Given the description of an element on the screen output the (x, y) to click on. 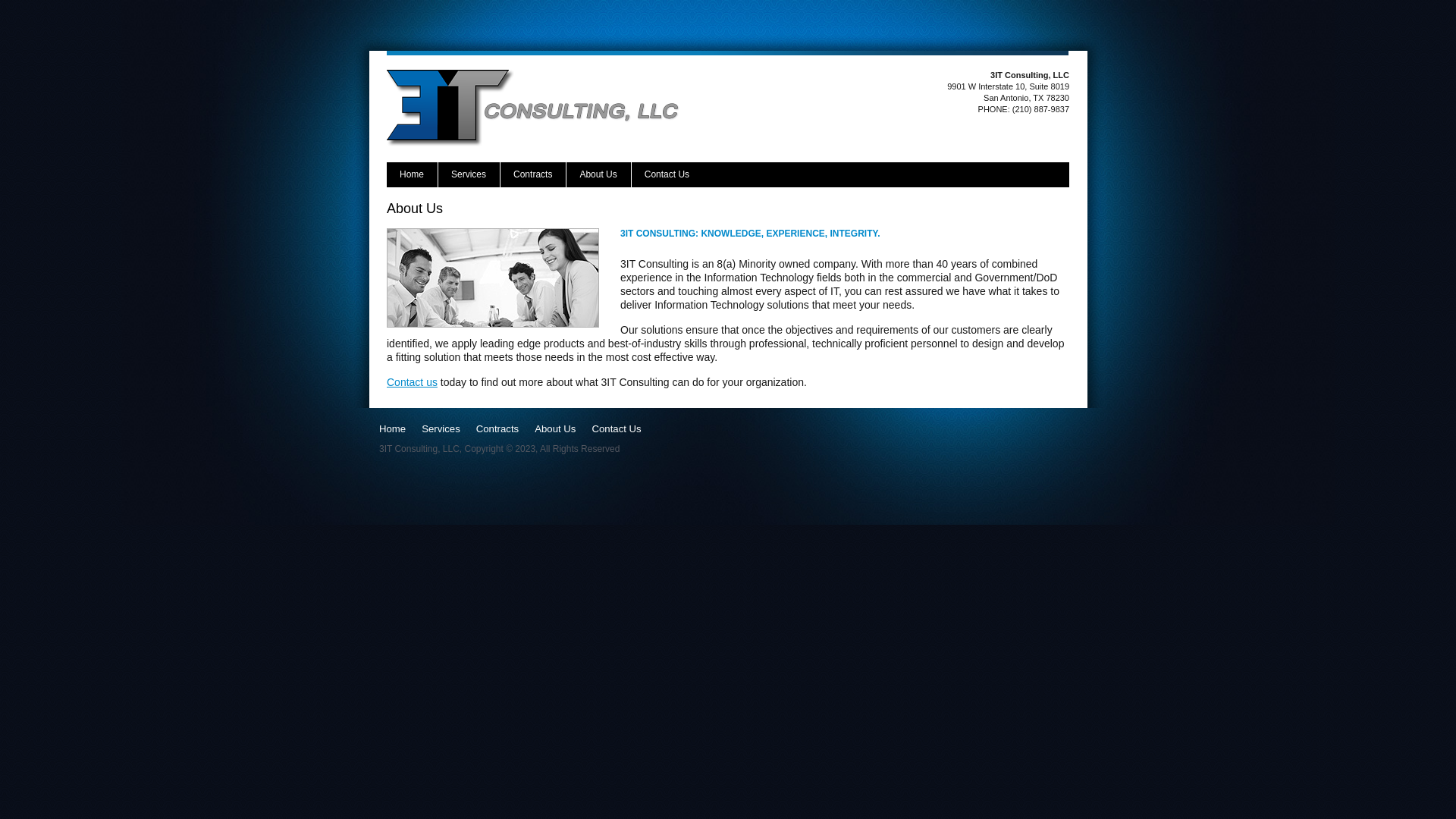
Home Element type: text (411, 174)
Contracts Element type: text (532, 174)
Services Element type: text (468, 174)
Contact Us Element type: text (666, 174)
Contracts Element type: text (497, 429)
Home Element type: text (392, 429)
About Us Element type: text (598, 174)
Services Element type: text (440, 429)
Contact us Element type: text (411, 382)
About Us Element type: text (554, 429)
Contact Us Element type: text (615, 429)
